Given the description of an element on the screen output the (x, y) to click on. 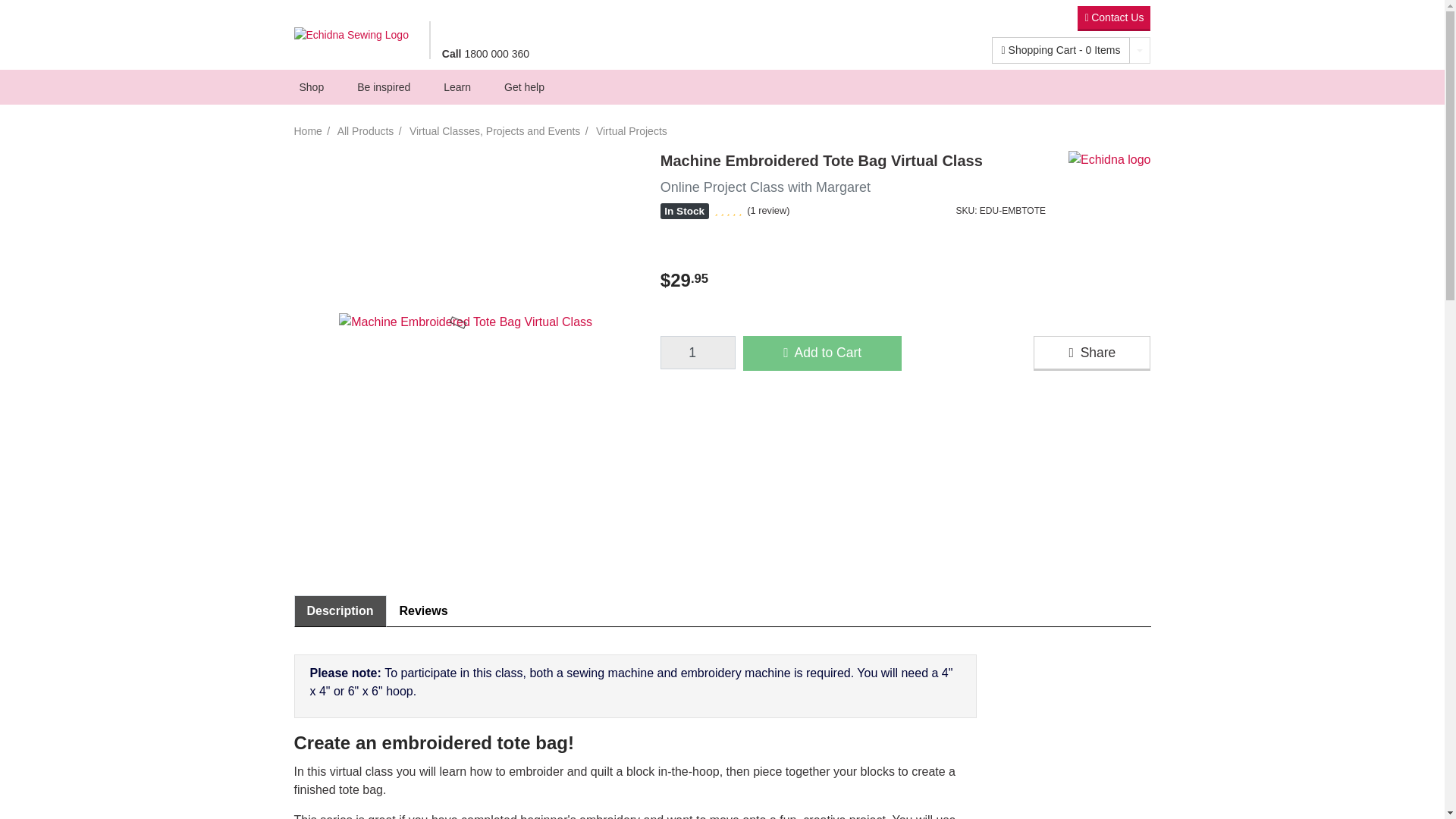
Shopping Cart - 0 Items (1061, 49)
Echidna Sewing (355, 34)
Contact Us (1113, 18)
Call 1800 000 360 (485, 52)
1 (698, 352)
